Given the description of an element on the screen output the (x, y) to click on. 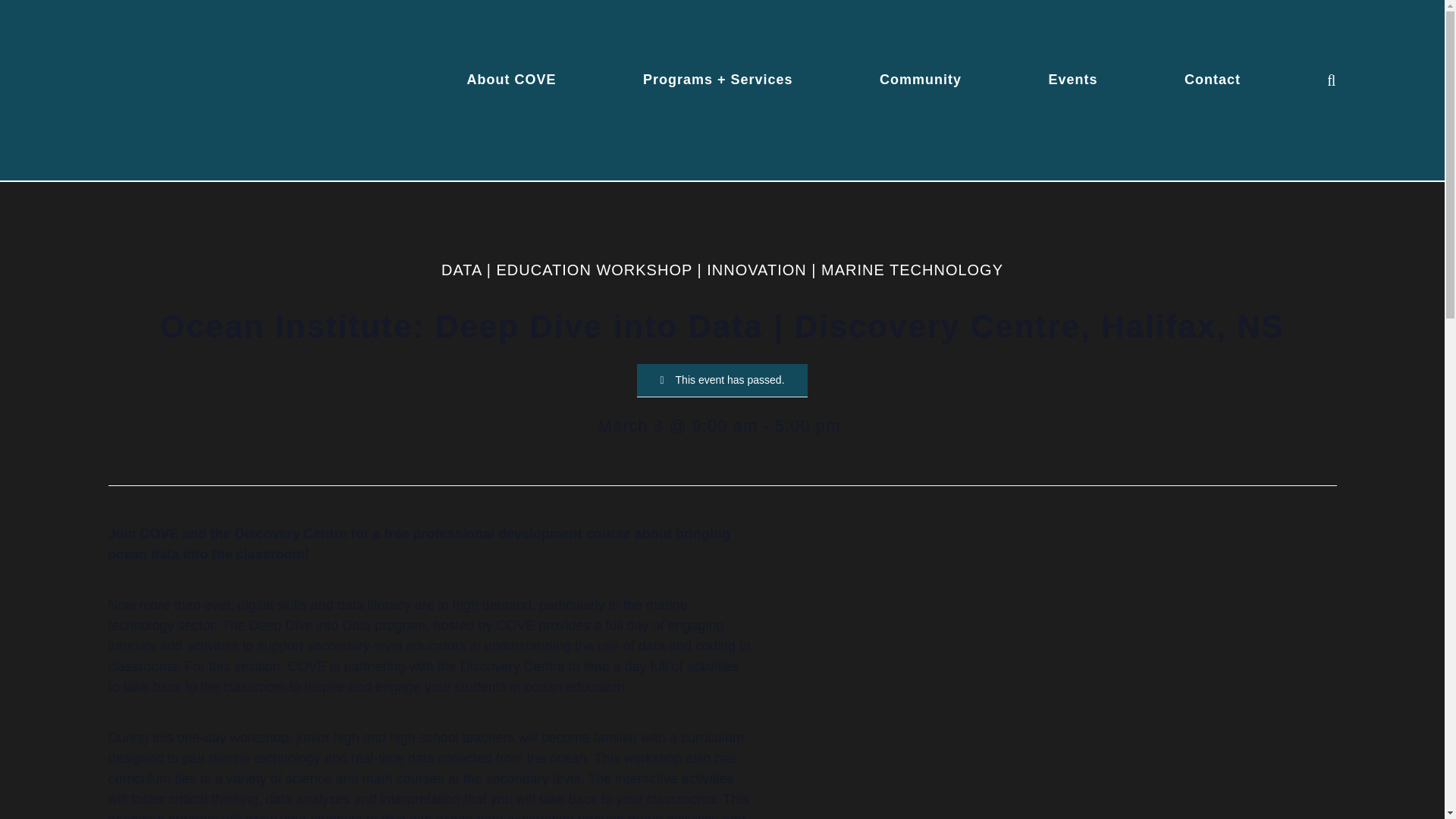
About COVE (511, 79)
Contact (1212, 79)
Events (1072, 79)
Community (919, 79)
